Given the description of an element on the screen output the (x, y) to click on. 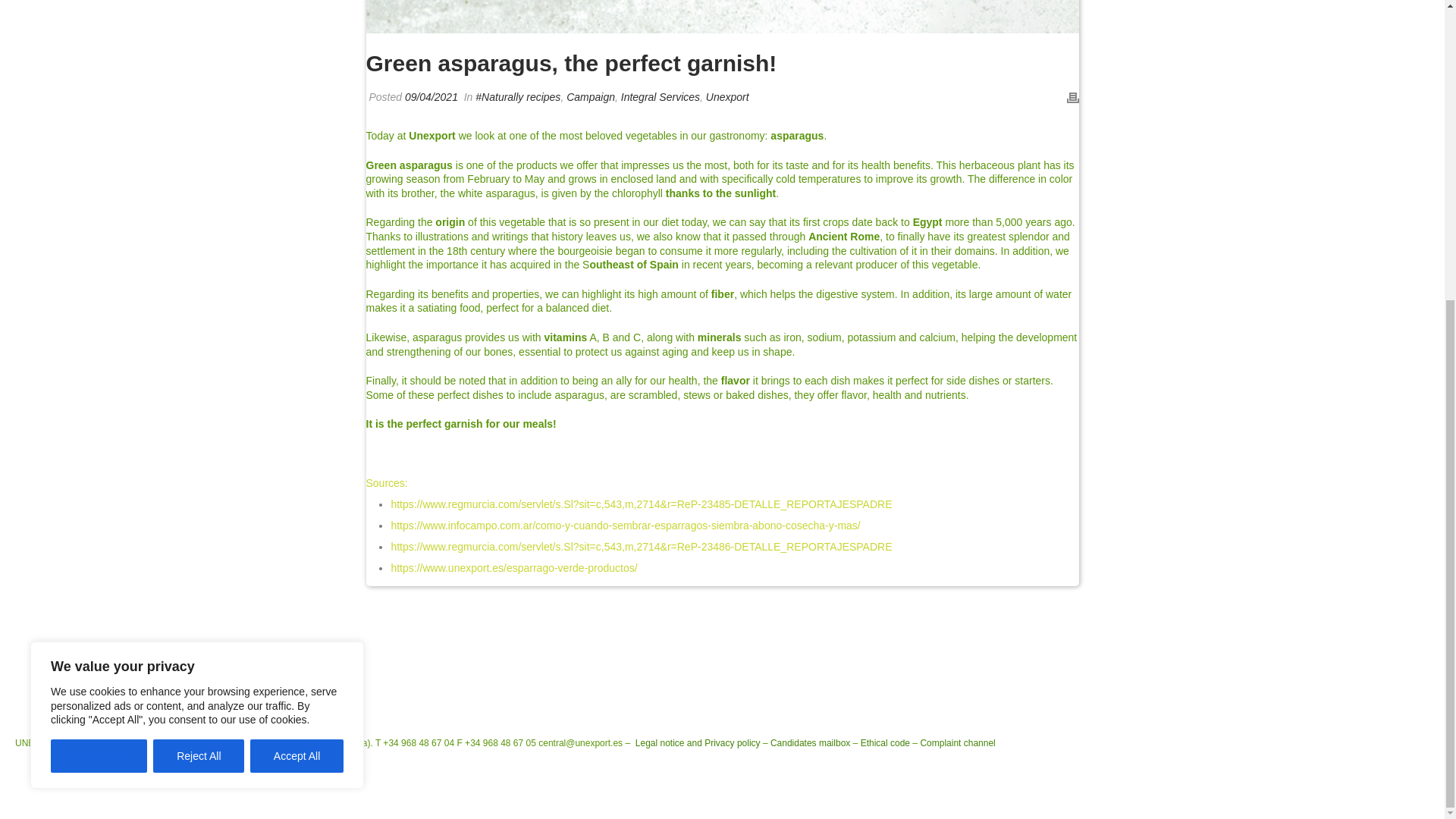
Accept All (296, 290)
Customize (98, 290)
Green asparagus, the perfect garnish! (721, 16)
Reject All (198, 290)
